Given the description of an element on the screen output the (x, y) to click on. 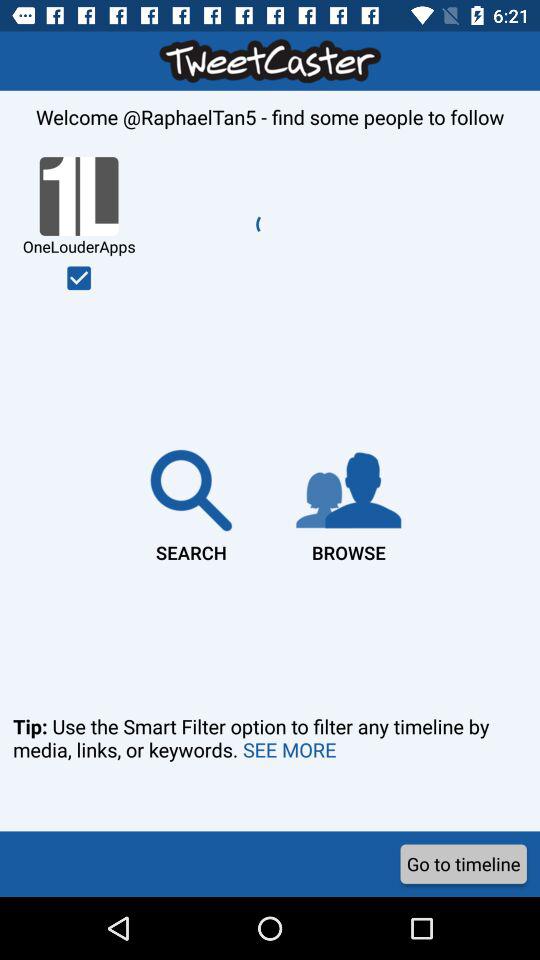
launch the browse icon (348, 502)
